Given the description of an element on the screen output the (x, y) to click on. 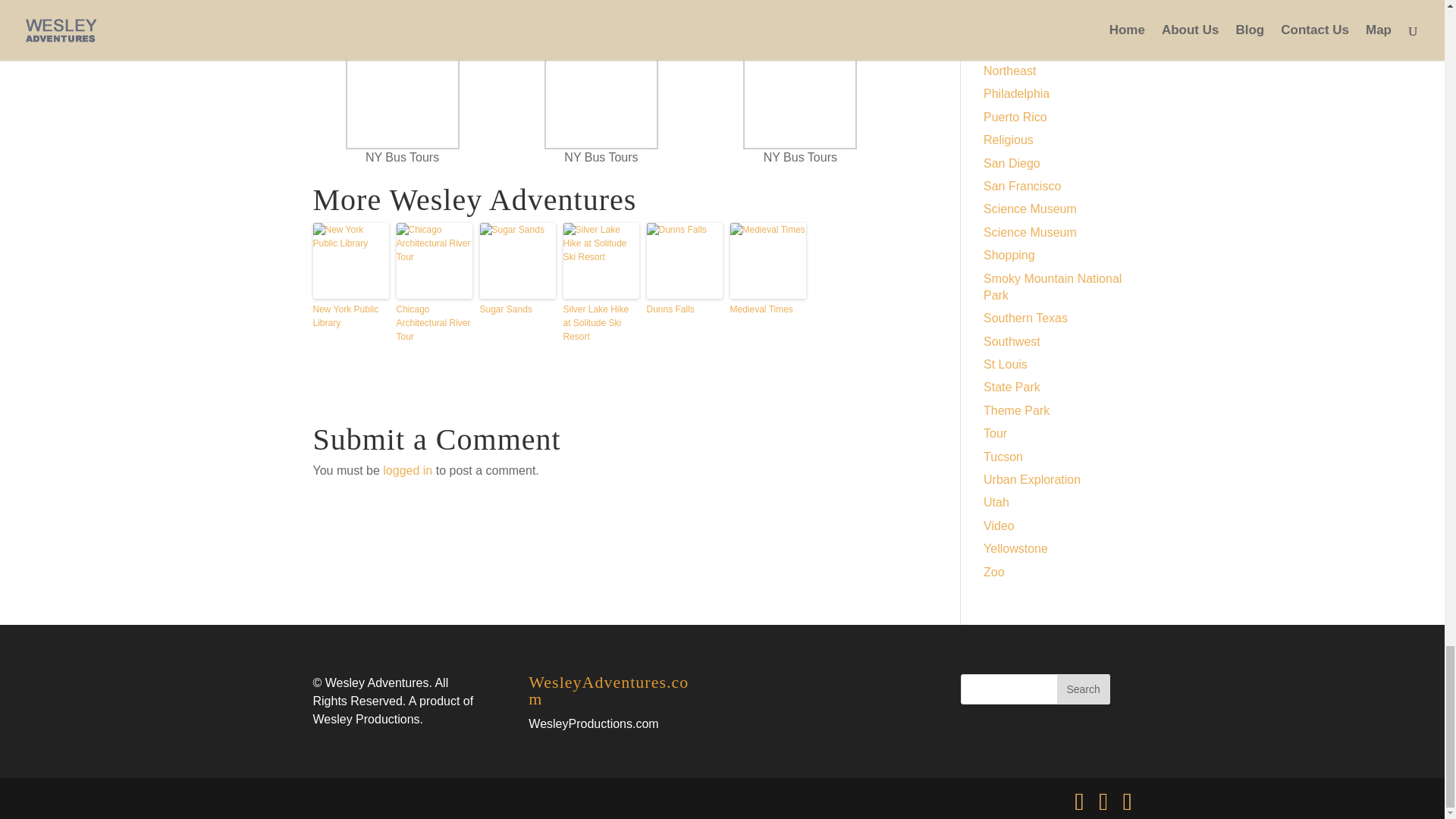
Search (1083, 689)
